Given the description of an element on the screen output the (x, y) to click on. 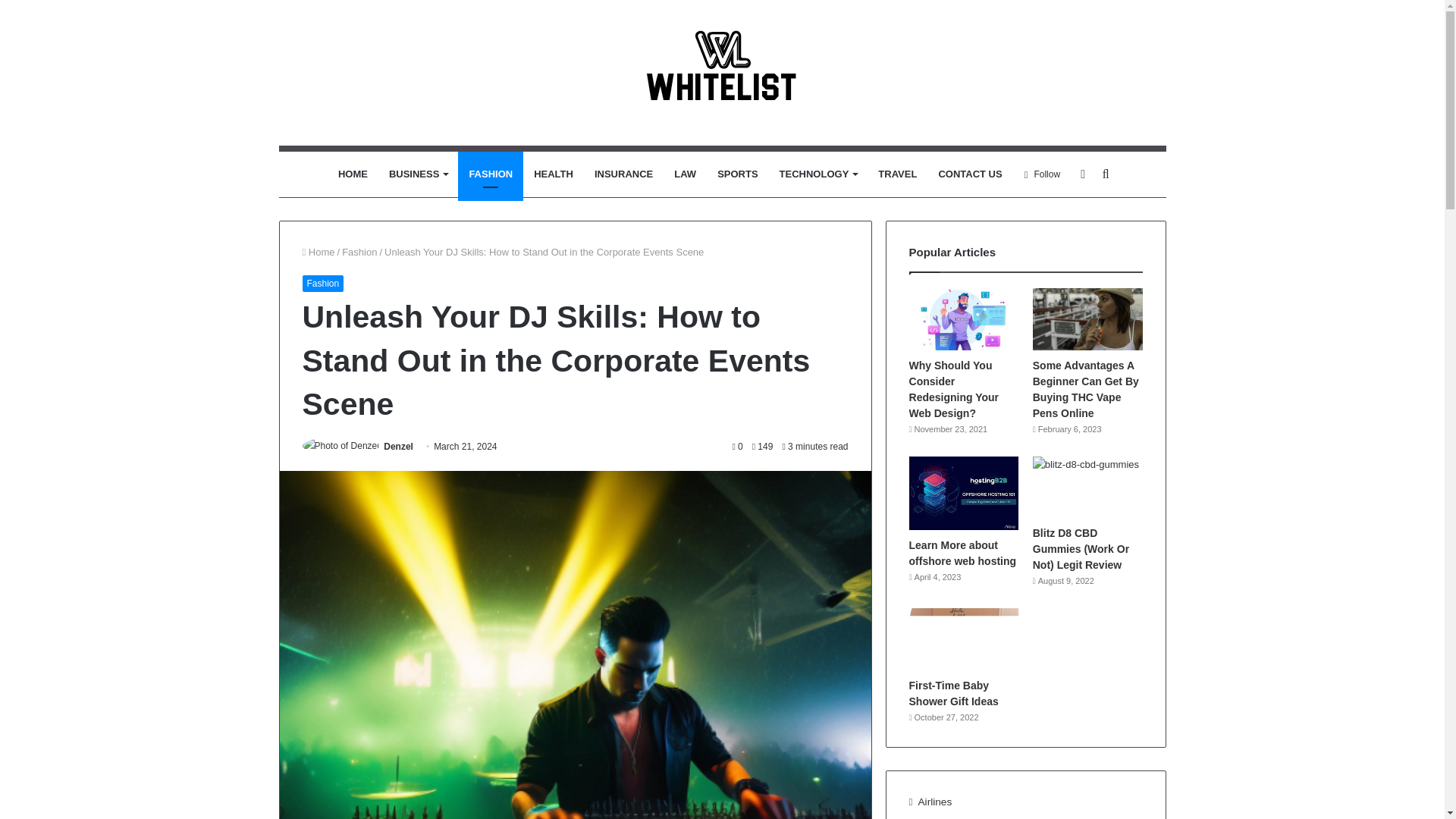
BUSINESS (418, 174)
INSURANCE (623, 174)
Fashion (359, 251)
HEALTH (552, 174)
SPORTS (737, 174)
CONTACT US (969, 174)
LAW (684, 174)
TRAVEL (897, 174)
Denzel (398, 446)
HOME (352, 174)
FASHION (490, 174)
Home (317, 251)
Follow (1042, 174)
Denzel (398, 446)
TECHNOLOGY (817, 174)
